Given the description of an element on the screen output the (x, y) to click on. 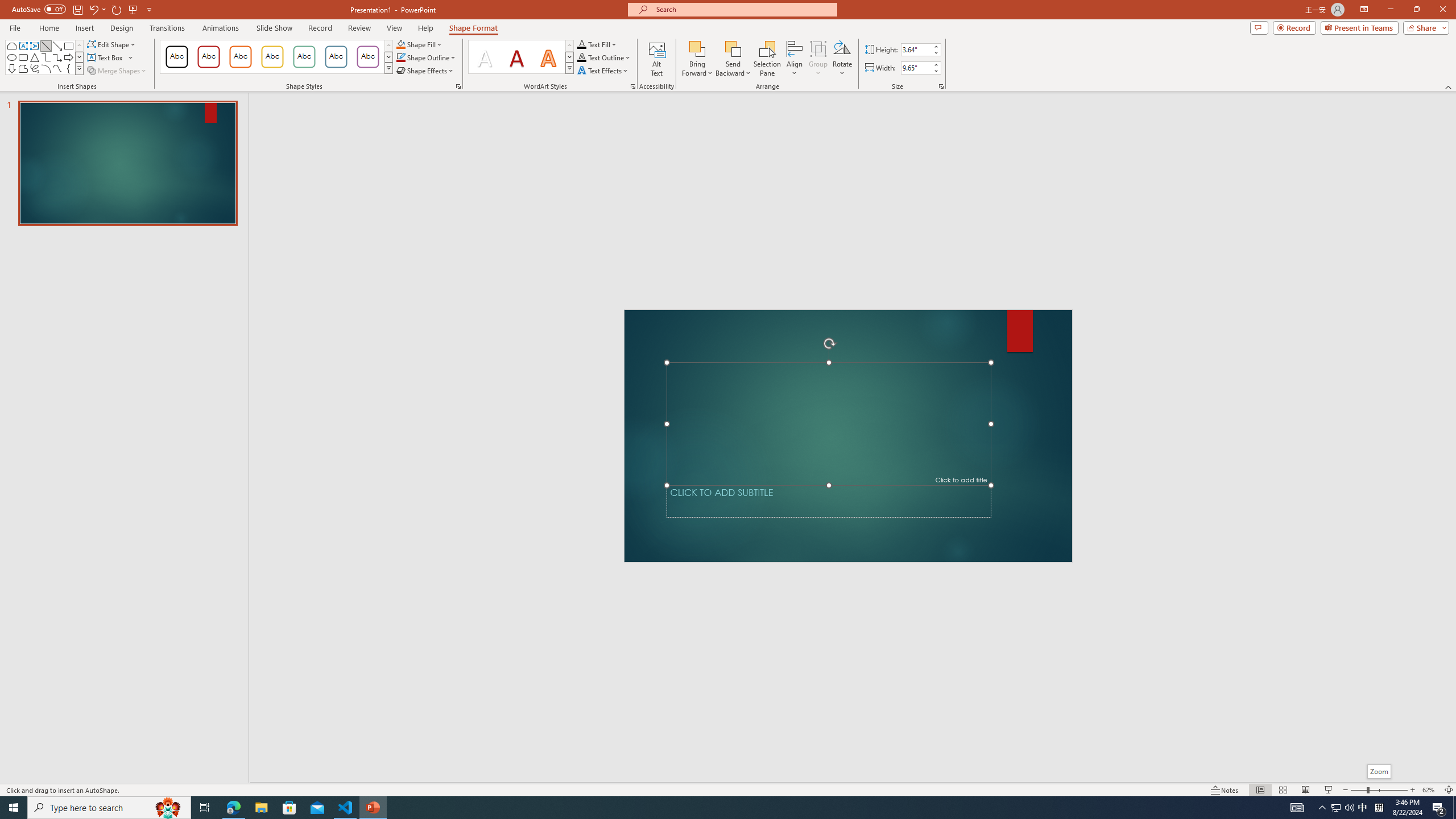
Less (935, 70)
Format Object... (458, 85)
Title TextBox (828, 423)
Group (817, 58)
Shape Width (915, 67)
Text Outline RGB(0, 0, 0) (581, 56)
Zoom 62% (1430, 790)
Rectangle (68, 45)
AutomationID: ShapeStylesGallery (276, 56)
Align (794, 58)
